Given the description of an element on the screen output the (x, y) to click on. 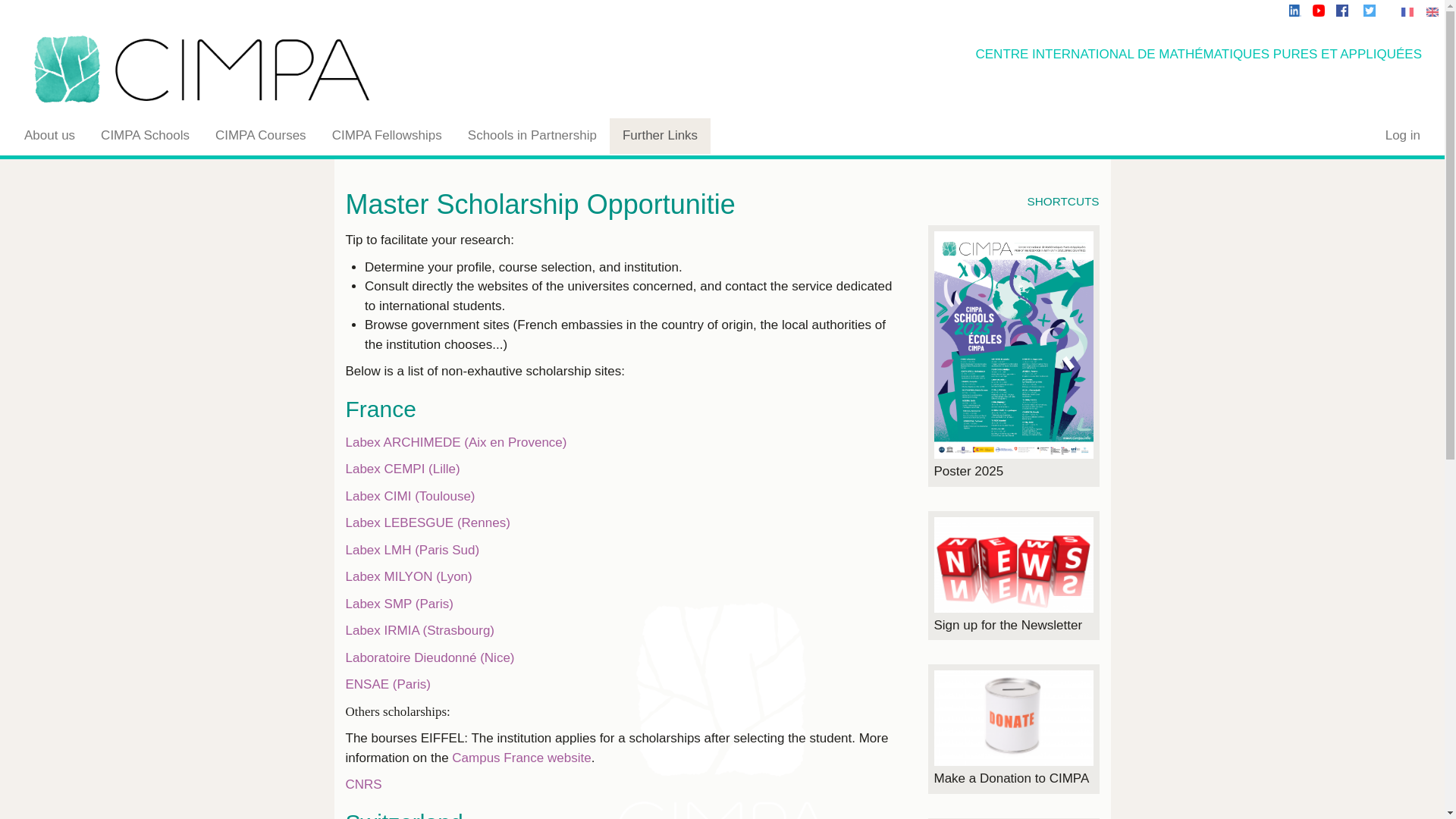
CIMPA Fellowships (386, 135)
Schools in Partnership (532, 135)
CIMPA Schools (144, 135)
CIMPA Courses (260, 135)
Log in (1402, 135)
Further Links (660, 135)
About us (49, 135)
French (1406, 11)
Home (303, 68)
English (1431, 11)
